Given the description of an element on the screen output the (x, y) to click on. 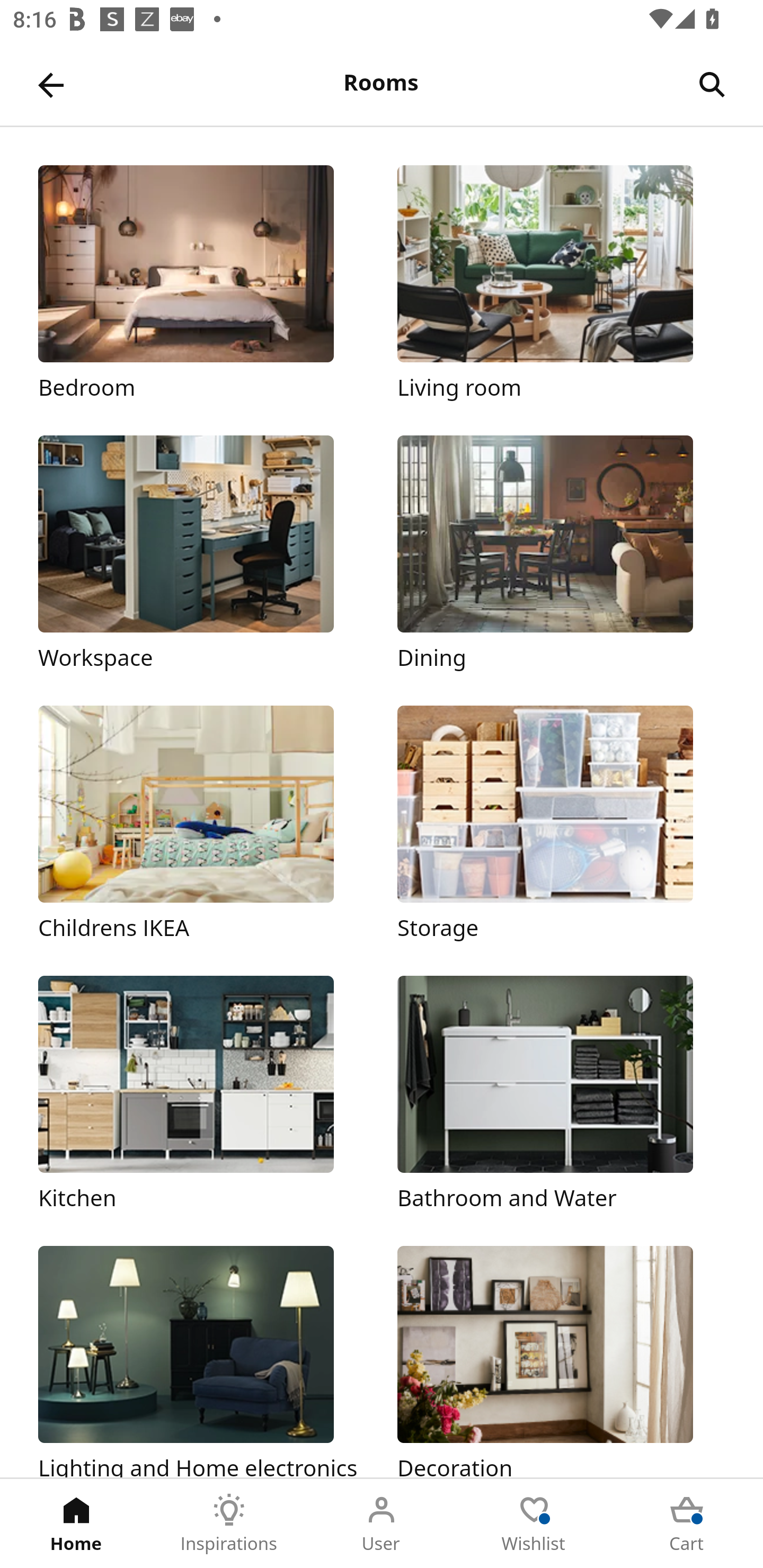
Bedroom (201, 283)
Living room (560, 283)
Workspace (201, 554)
Dining (560, 554)
Childrens IKEA (201, 824)
Storage (560, 824)
Kitchen (201, 1094)
Bathroom and Water (560, 1094)
Lighting and Home electronics (201, 1361)
Decoration (560, 1361)
Home
Tab 1 of 5 (76, 1522)
Inspirations
Tab 2 of 5 (228, 1522)
User
Tab 3 of 5 (381, 1522)
Wishlist
Tab 4 of 5 (533, 1522)
Cart
Tab 5 of 5 (686, 1522)
